Given the description of an element on the screen output the (x, y) to click on. 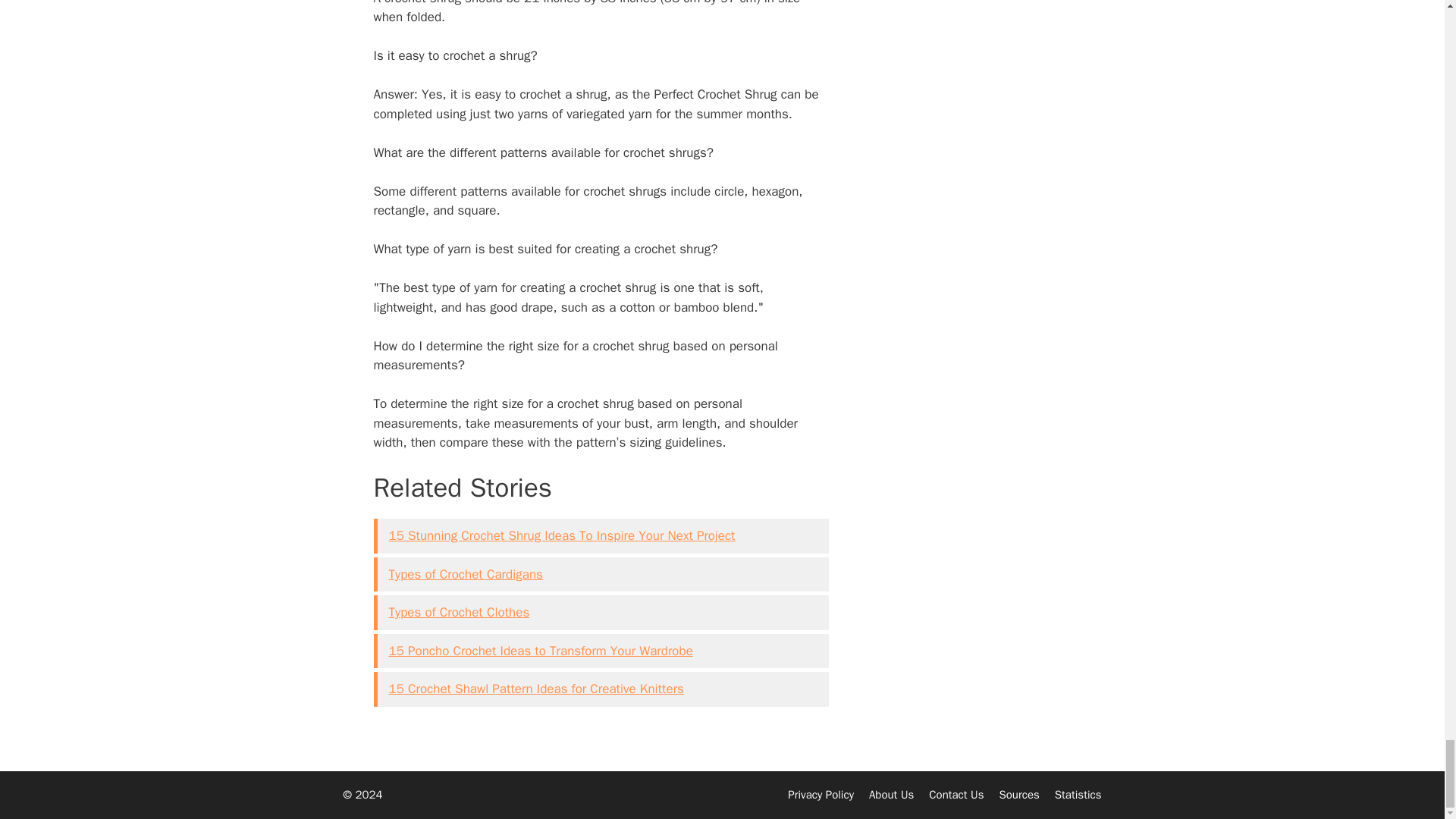
Types of Crochet Cardigans (464, 574)
Sources (1018, 794)
15 Stunning Crochet Shrug Ideas To Inspire Your Next Project (561, 535)
Types of Crochet Cardigans (464, 574)
Statistics (1078, 794)
Contact Us (956, 794)
15 Crochet Shawl Pattern Ideas for Creative Knitters (535, 688)
Privacy Policy (820, 794)
Types of Crochet Clothes (458, 611)
About Us (891, 794)
15 Poncho Crochet Ideas to Transform Your Wardrobe (540, 650)
15 Crochet Shawl Pattern Ideas for Creative Knitters (535, 688)
Types of Crochet Clothes (458, 611)
15 Poncho Crochet Ideas to Transform Your Wardrobe (540, 650)
15 Stunning Crochet Shrug Ideas To Inspire Your Next Project (561, 535)
